Given the description of an element on the screen output the (x, y) to click on. 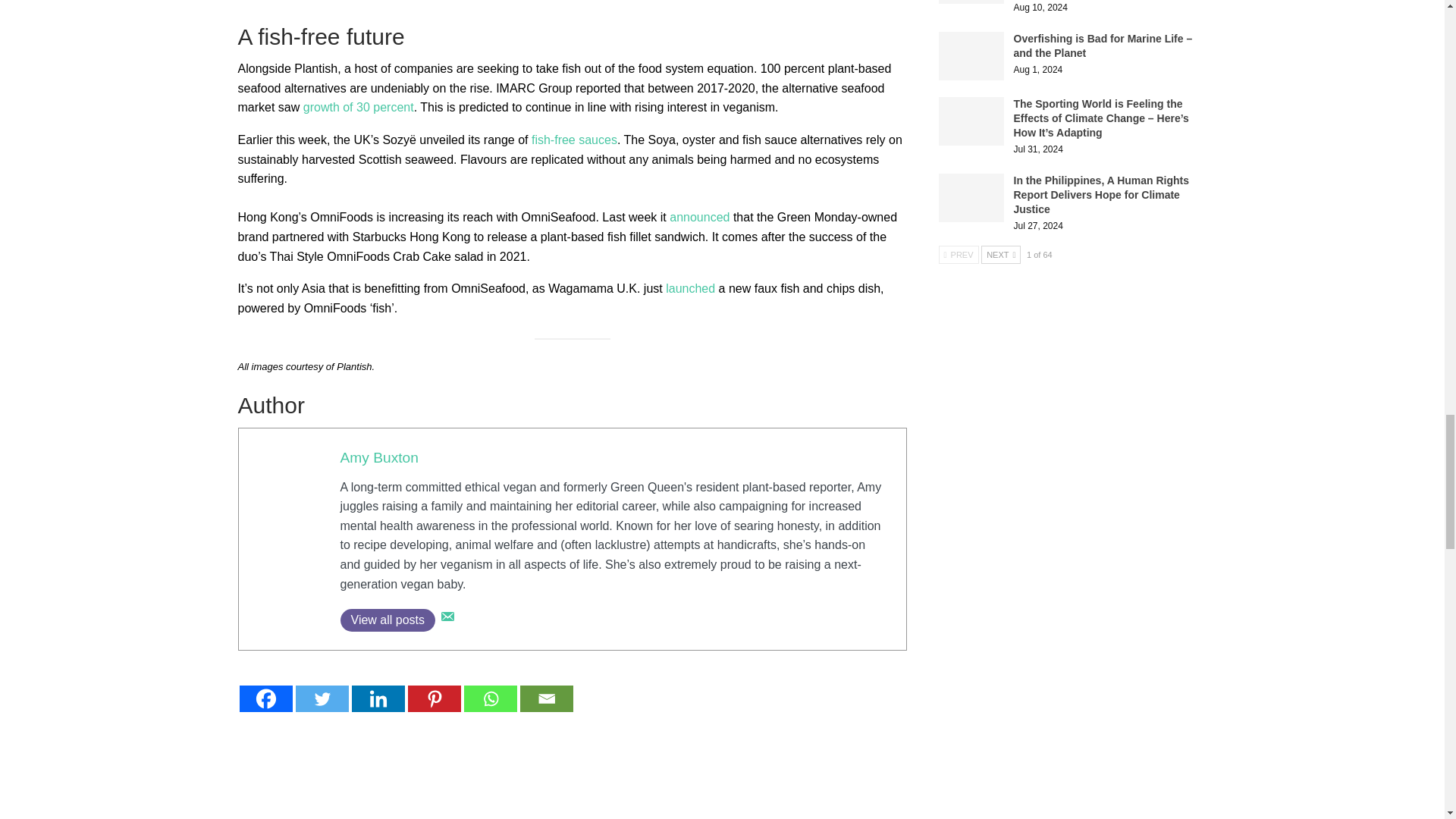
fish-free sauces (574, 139)
Amy Buxton (378, 457)
Amy Buxton (378, 457)
announced (699, 216)
View all posts (387, 620)
Linkedin (378, 698)
launched (689, 287)
Facebook (266, 698)
Pinterest (434, 698)
Whatsapp (490, 698)
